Given the description of an element on the screen output the (x, y) to click on. 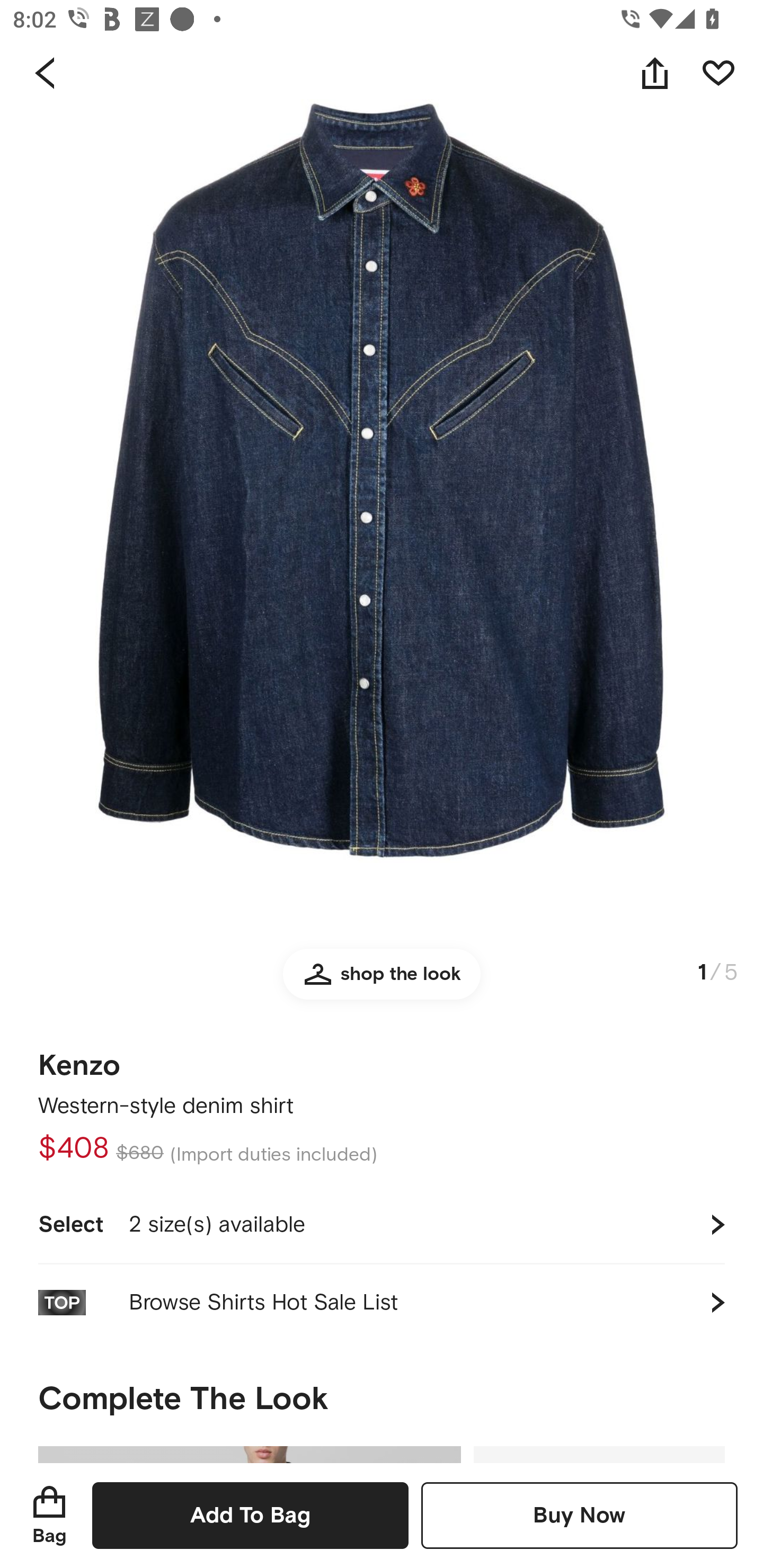
shop the look (381, 982)
Kenzo (79, 1059)
Select 2 size(s) available (381, 1224)
Browse Shirts Hot Sale List (381, 1301)
Bag (49, 1515)
Add To Bag (250, 1515)
Buy Now (579, 1515)
